Given the description of an element on the screen output the (x, y) to click on. 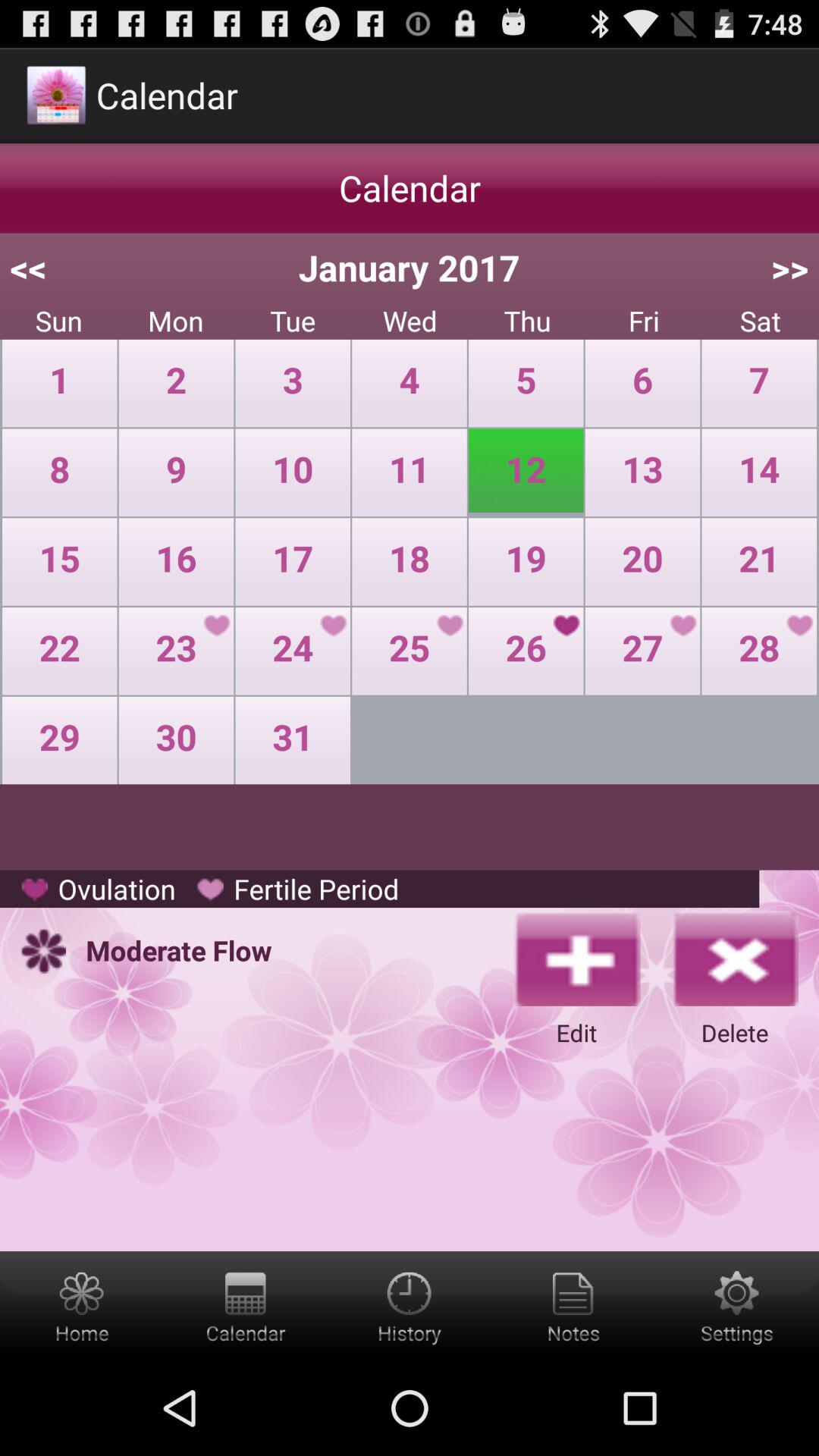
click the calendar (245, 1305)
